Given the description of an element on the screen output the (x, y) to click on. 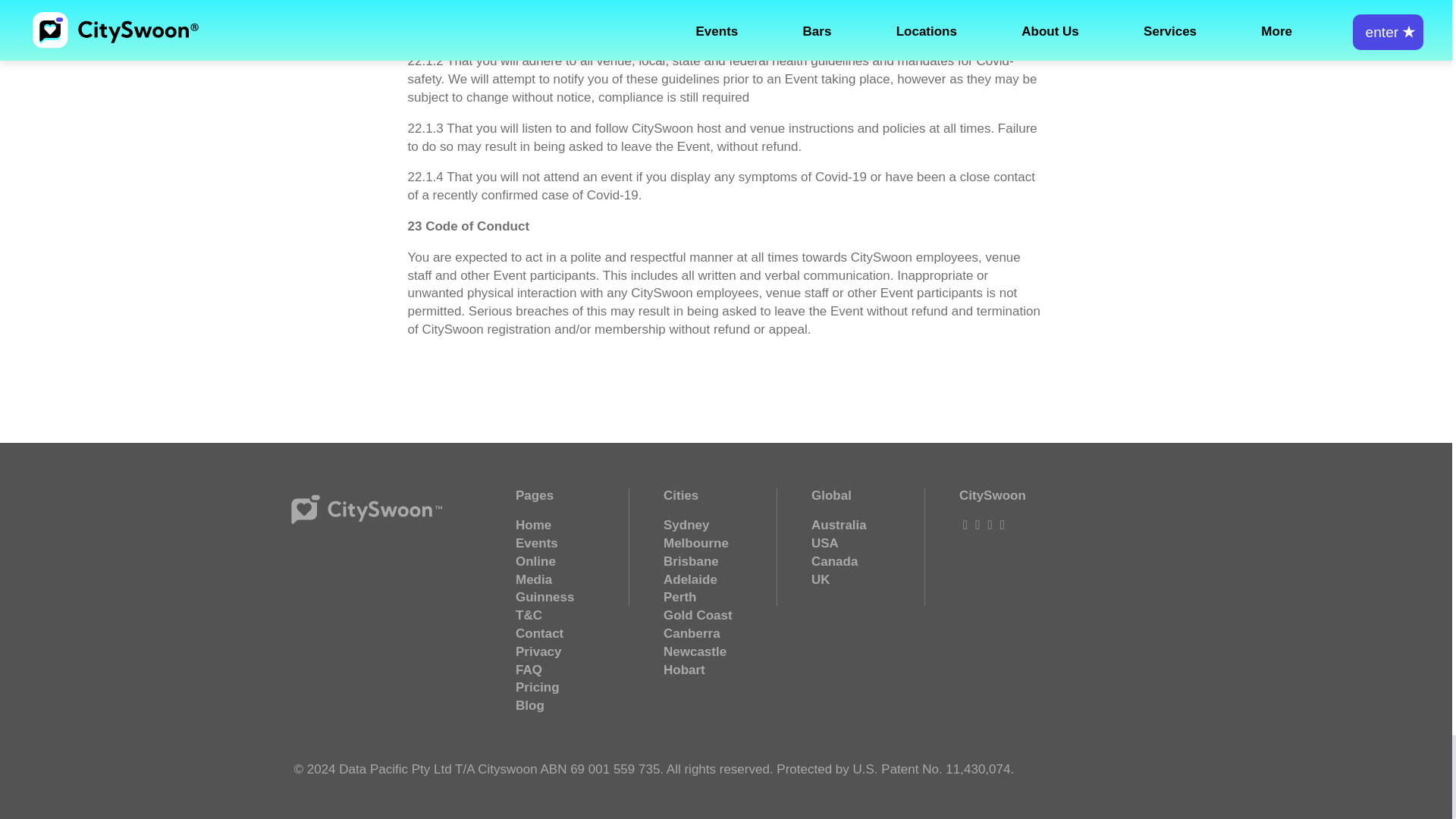
Online (535, 561)
Home (533, 524)
Media (533, 579)
Events (536, 543)
